Given the description of an element on the screen output the (x, y) to click on. 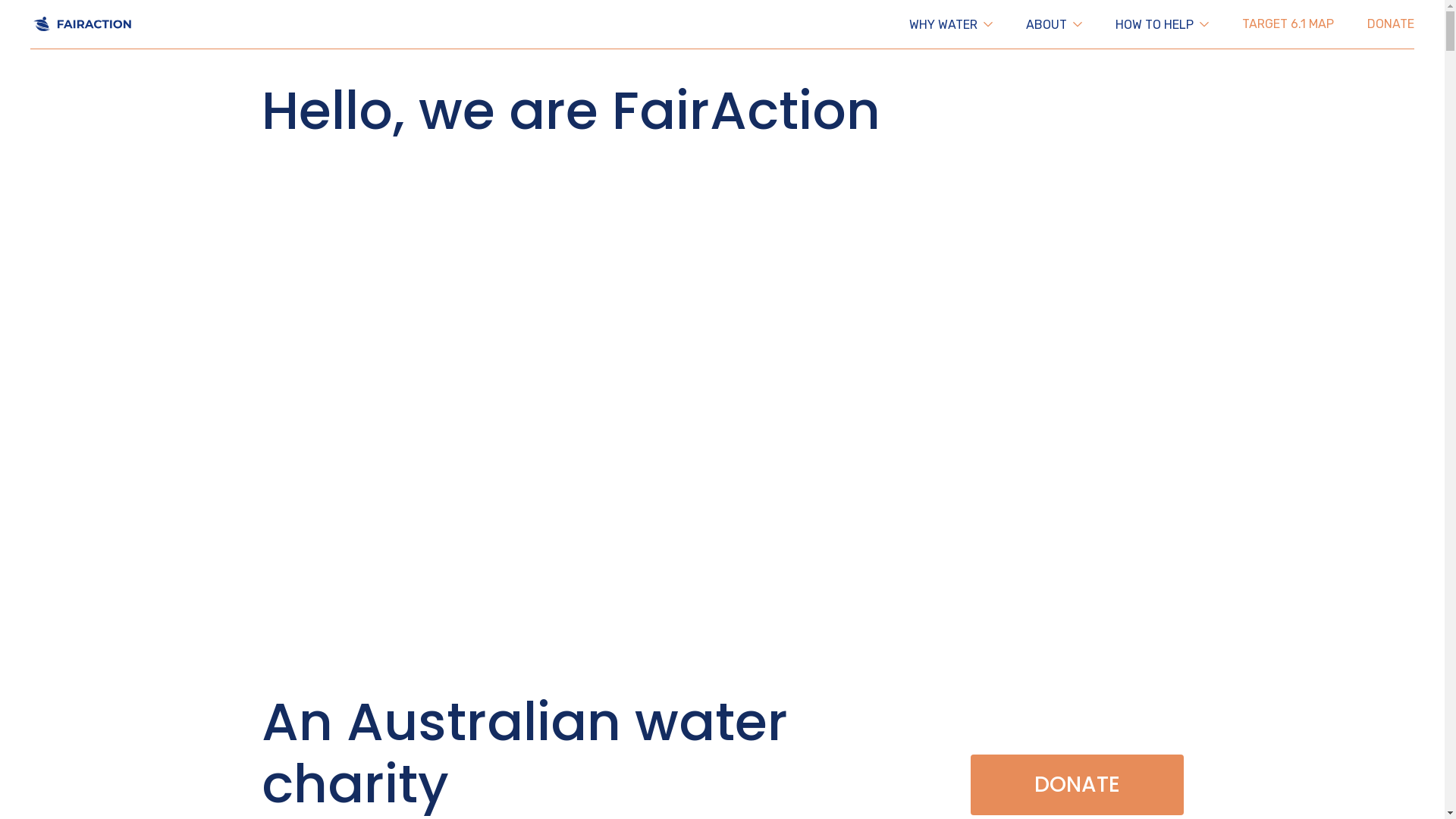
HOW TO HELP Element type: text (1161, 23)
WHY WATER Element type: text (950, 23)
DONATE Element type: text (1390, 24)
ABOUT Element type: text (1054, 23)
DONATE Element type: text (1076, 784)
TARGET 6.1 MAP Element type: text (1287, 24)
